Given the description of an element on the screen output the (x, y) to click on. 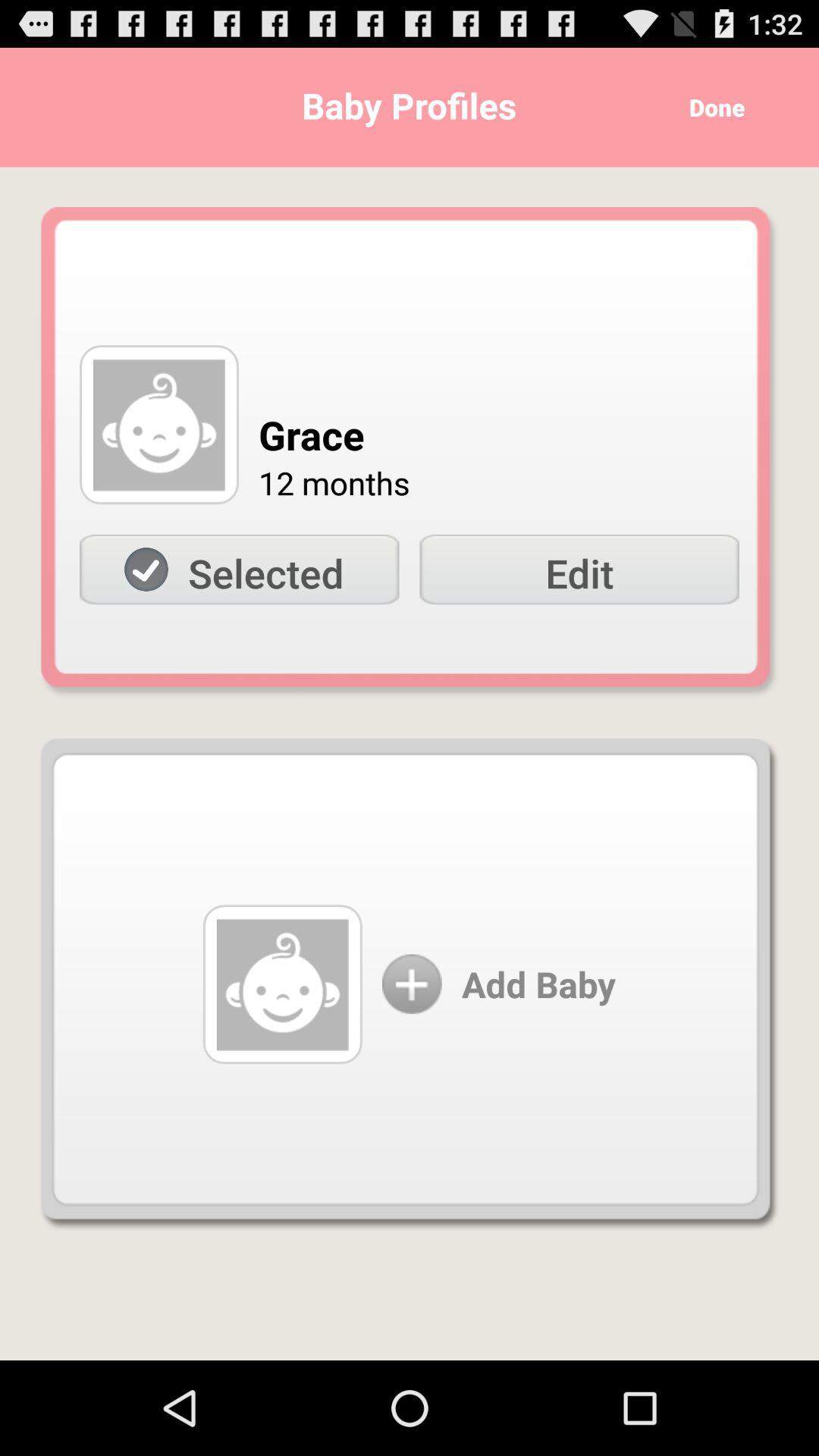
launch item to the right of the baby profiles (711, 107)
